Given the description of an element on the screen output the (x, y) to click on. 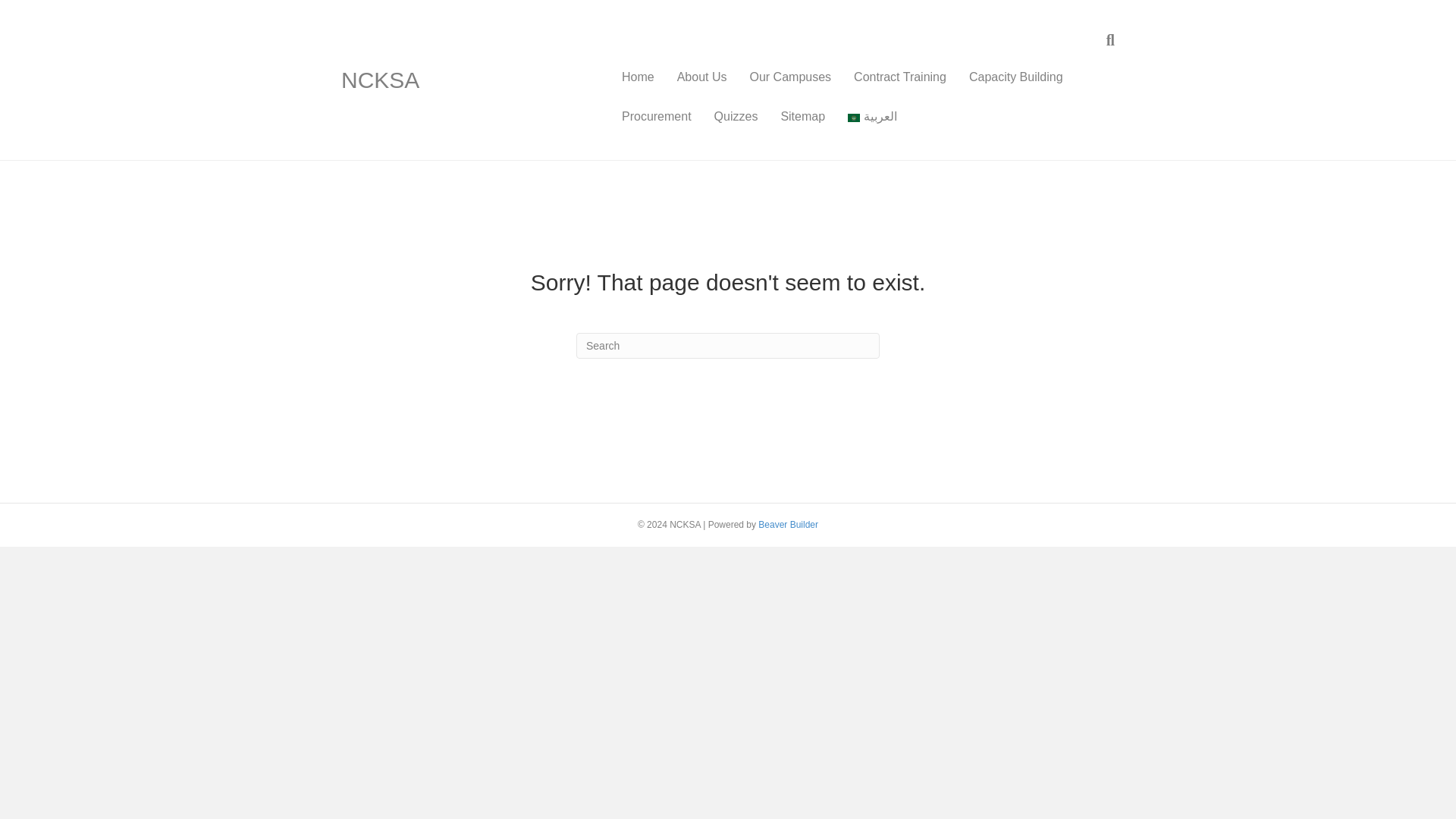
Search (727, 345)
Search (727, 345)
Our Campuses (790, 77)
Sitemap (801, 116)
About Us (701, 77)
Capacity Building (1016, 77)
Home (637, 77)
NCKSA (464, 80)
WordPress Page Builder Plugin (788, 524)
Contract Training (900, 77)
